Given the description of an element on the screen output the (x, y) to click on. 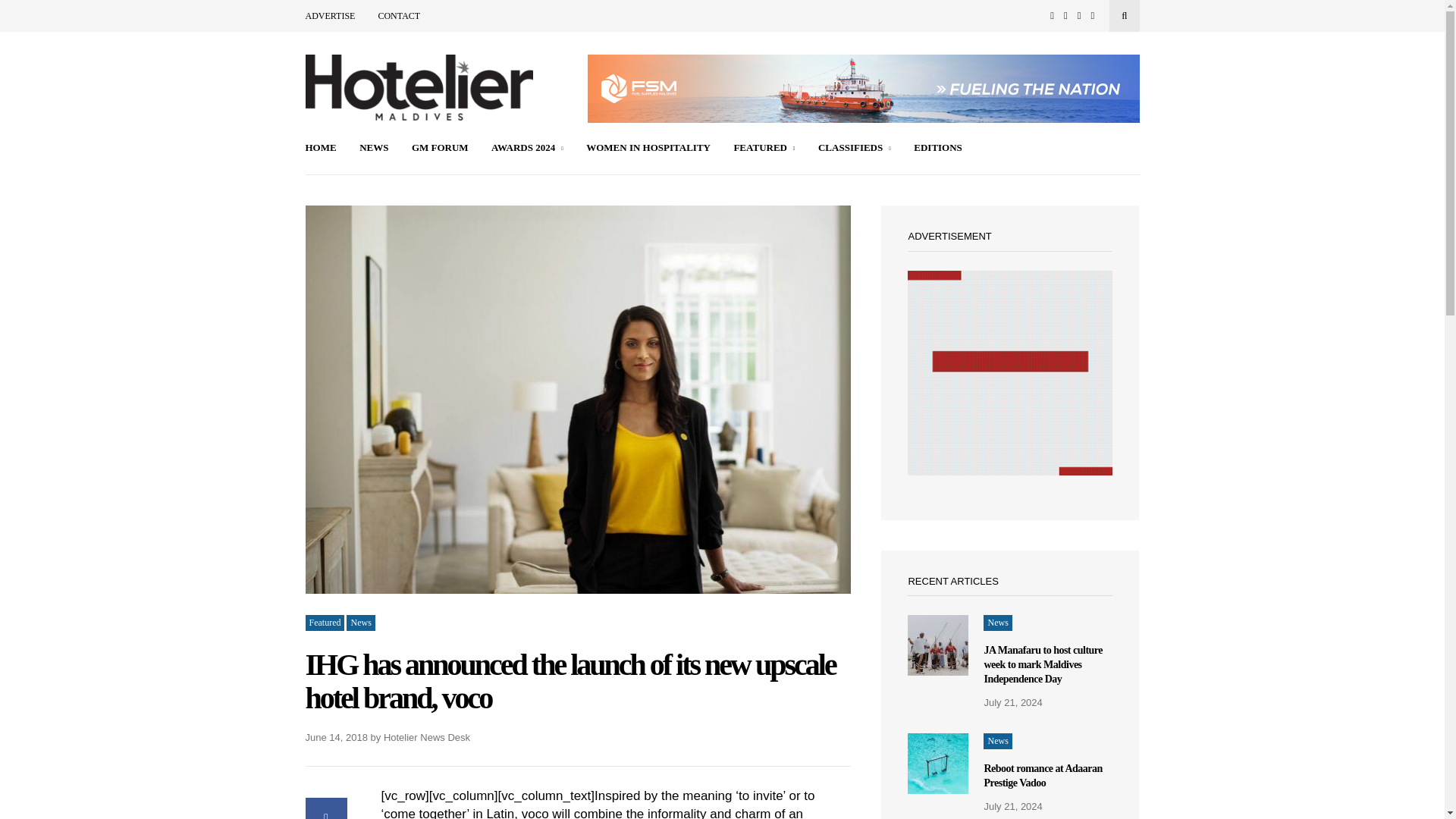
CLASSIFIEDS (854, 148)
Featured (323, 622)
ADVERTISE (329, 15)
WOMEN IN HOSPITALITY (648, 148)
CONTACT (398, 15)
Hotelier News Desk (427, 737)
GM FORUM (440, 148)
AWARDS 2024 (527, 148)
News (360, 622)
FEATURED (763, 148)
EDITIONS (938, 148)
